Given the description of an element on the screen output the (x, y) to click on. 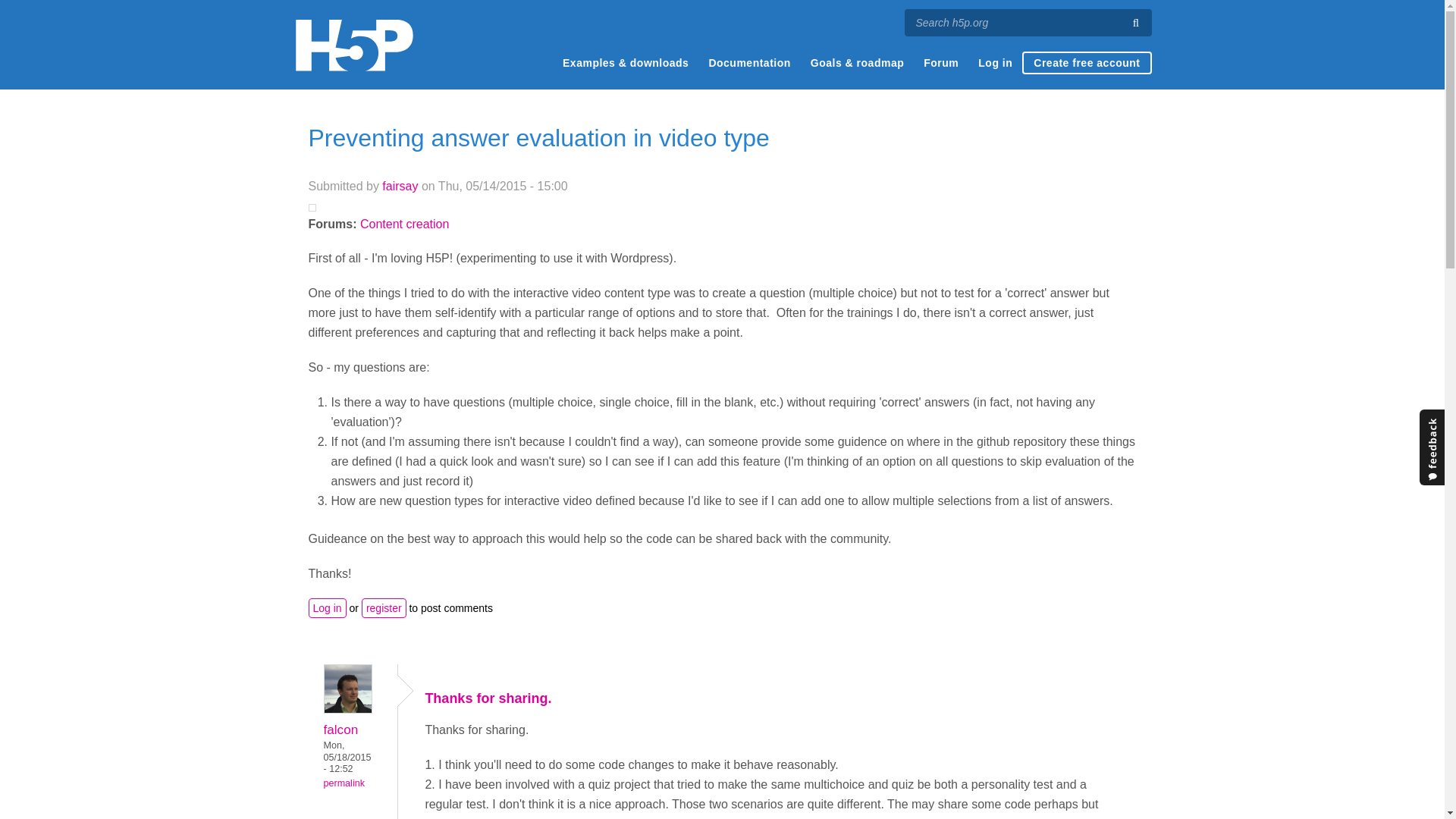
Content creation (403, 223)
View user profile. (399, 185)
permalink (343, 783)
Log in (994, 62)
Create free account (1086, 62)
Front page (353, 44)
Forum (940, 62)
falcon (340, 729)
Thanks for sharing. (488, 698)
View user profile. (347, 708)
